Given the description of an element on the screen output the (x, y) to click on. 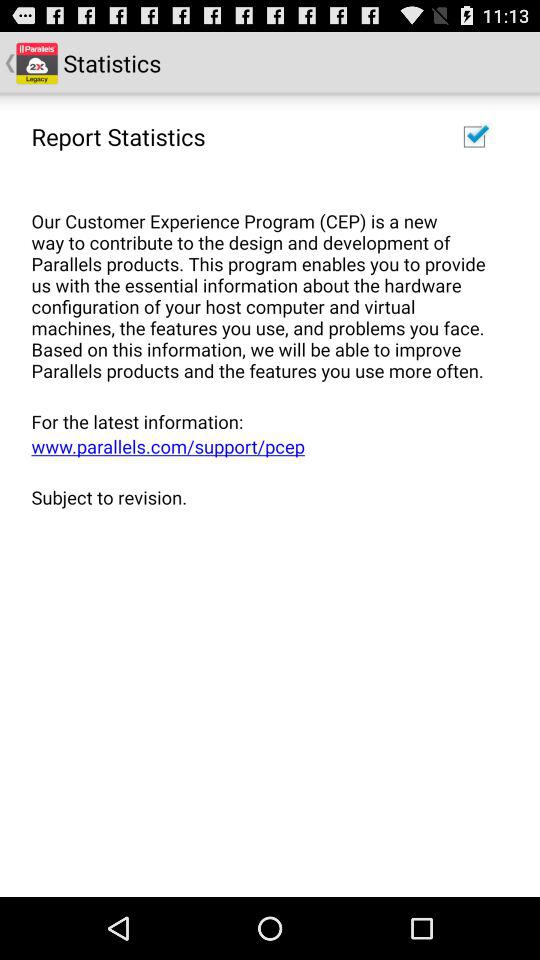
turn on the item above our customer experience (118, 136)
